Given the description of an element on the screen output the (x, y) to click on. 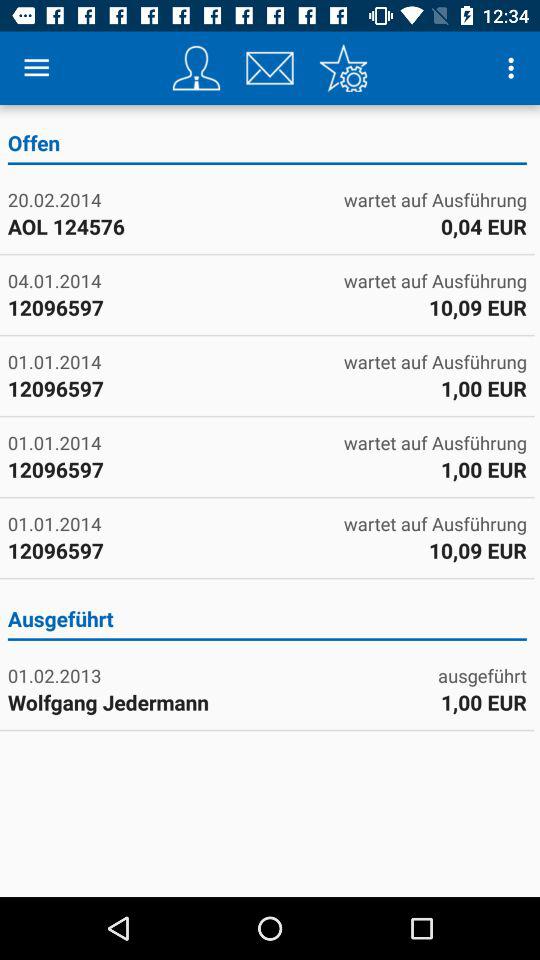
turn on the item above offen icon (36, 68)
